Given the description of an element on the screen output the (x, y) to click on. 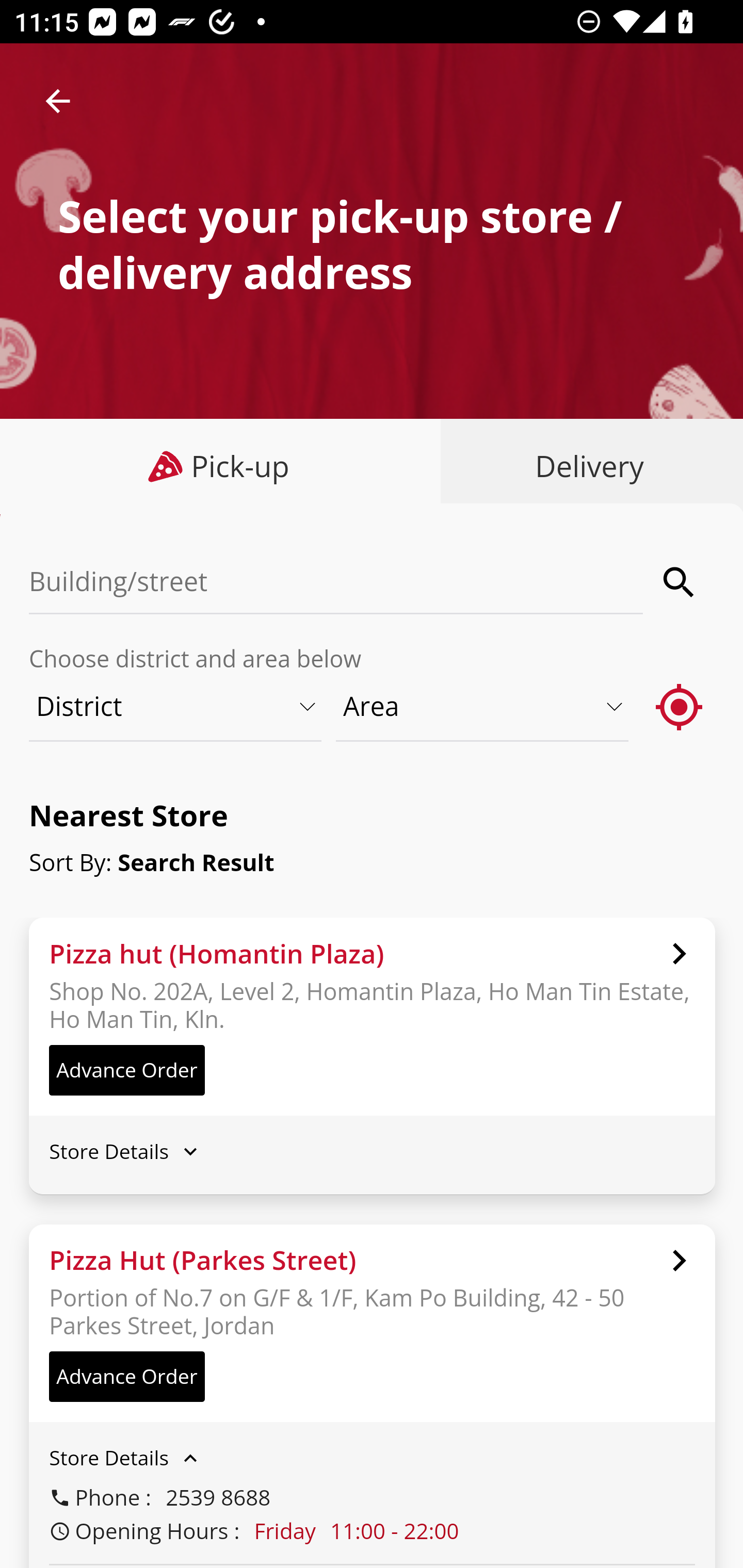
arrow_back (58, 100)
Pick-up (221, 466)
Delivery (585, 466)
search (679, 582)
gps_fixed (679, 706)
District (175, 706)
Area (482, 706)
Store Details (371, 1149)
Store Details (371, 1457)
